Given the description of an element on the screen output the (x, y) to click on. 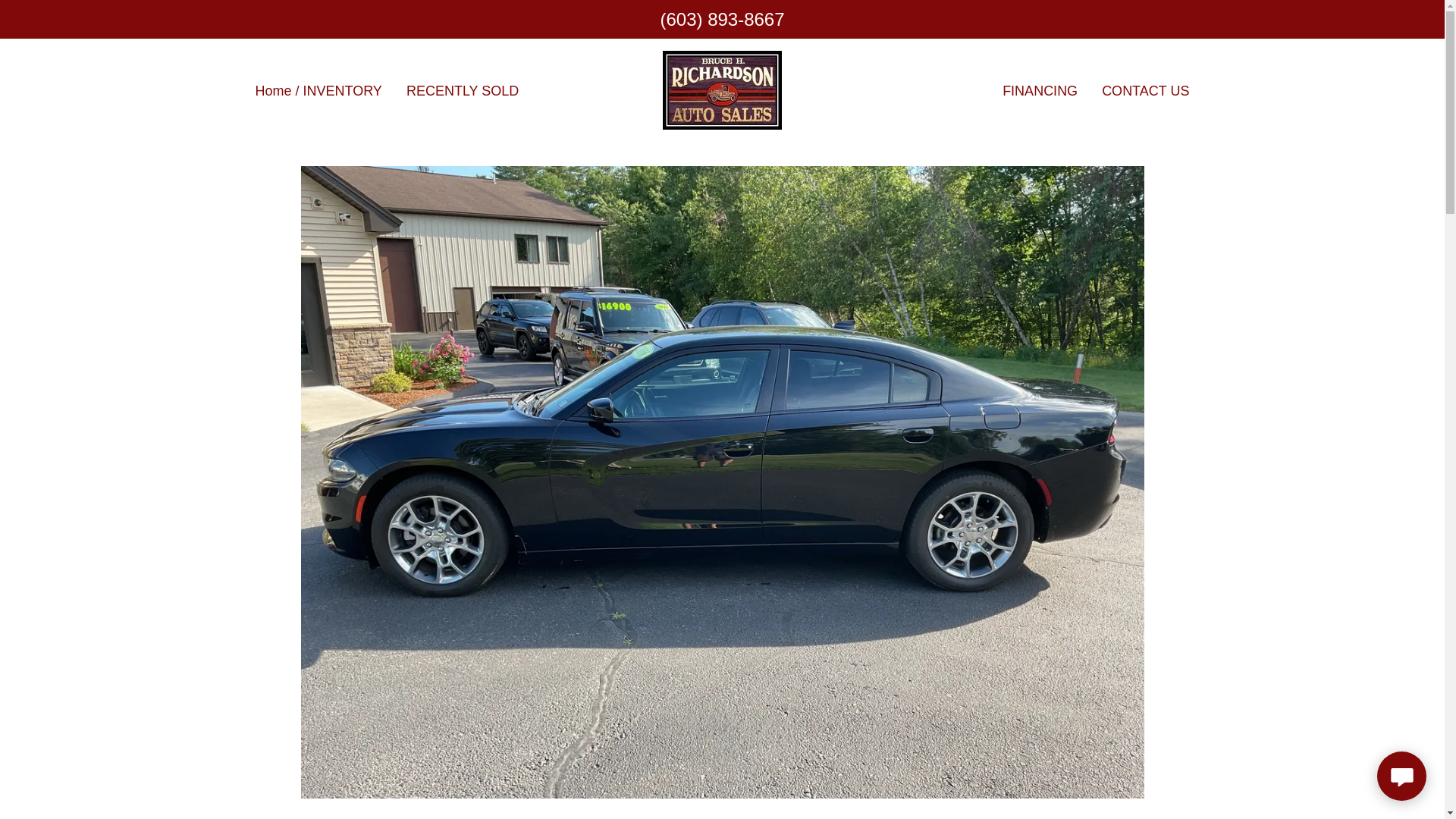
CONTACT US (721, 89)
RECENTLY SOLD (1145, 89)
FINANCING (461, 89)
